Given the description of an element on the screen output the (x, y) to click on. 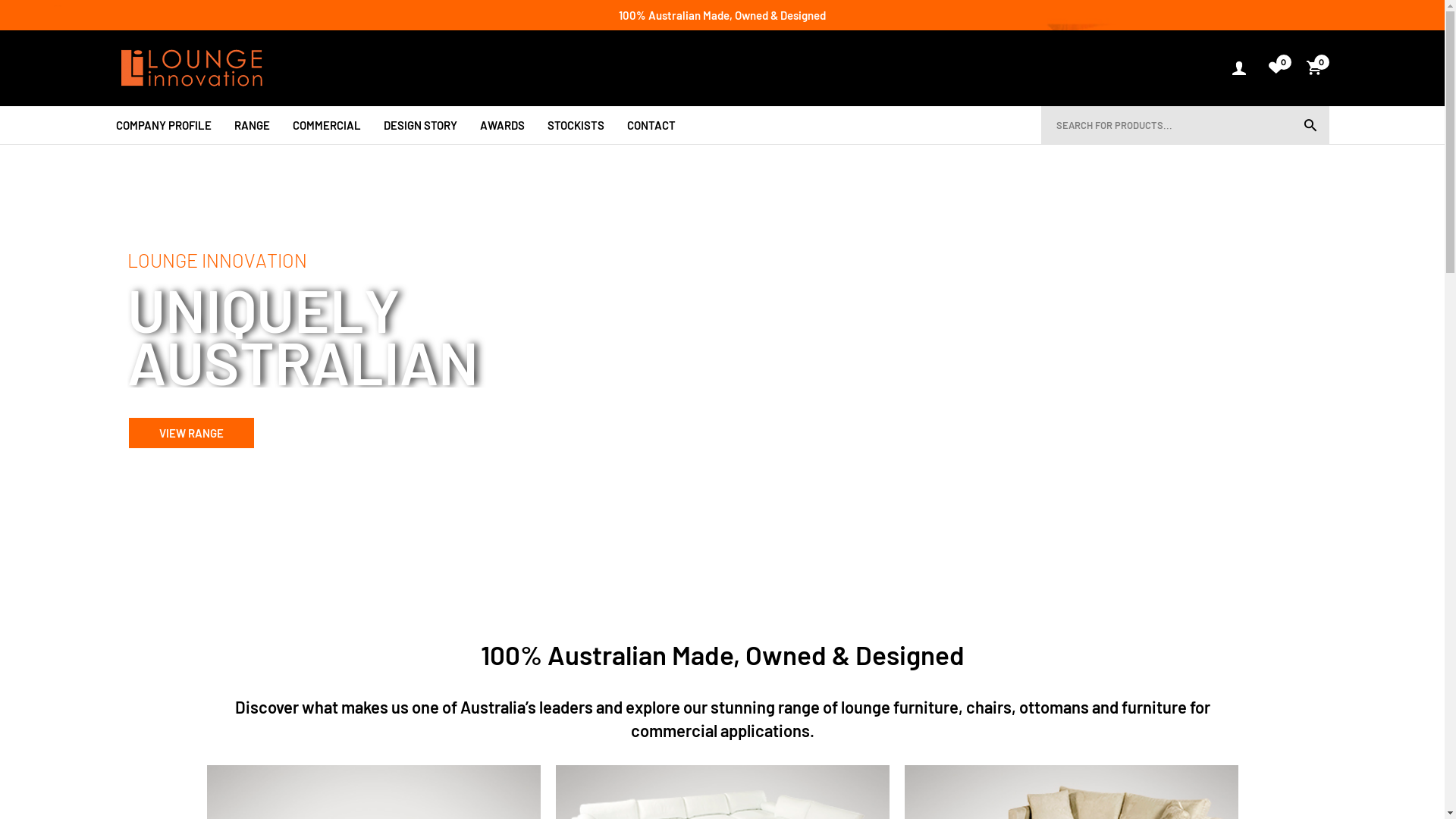
AWARDS Element type: text (501, 125)
RANGE Element type: text (251, 125)
DESIGN STORY Element type: text (420, 125)
0 Element type: text (1275, 68)
0 Element type: text (1316, 68)
COMPANY PROFILE Element type: text (162, 125)
CONTACT Element type: text (650, 125)
STOCKISTS Element type: text (575, 125)
VIEW RANGE Element type: text (189, 510)
COMMERCIAL Element type: text (326, 125)
